Given the description of an element on the screen output the (x, y) to click on. 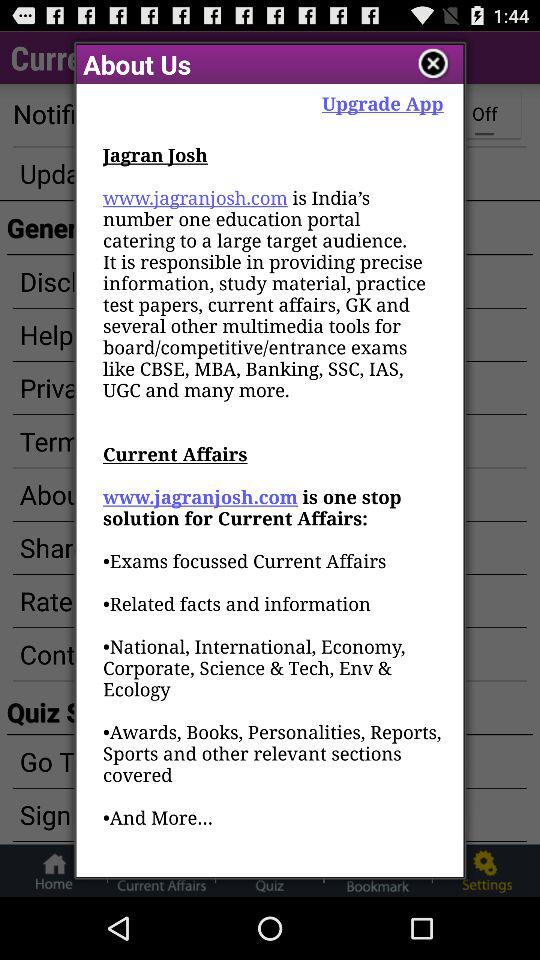
tap the item to the right of the about us app (433, 63)
